Given the description of an element on the screen output the (x, y) to click on. 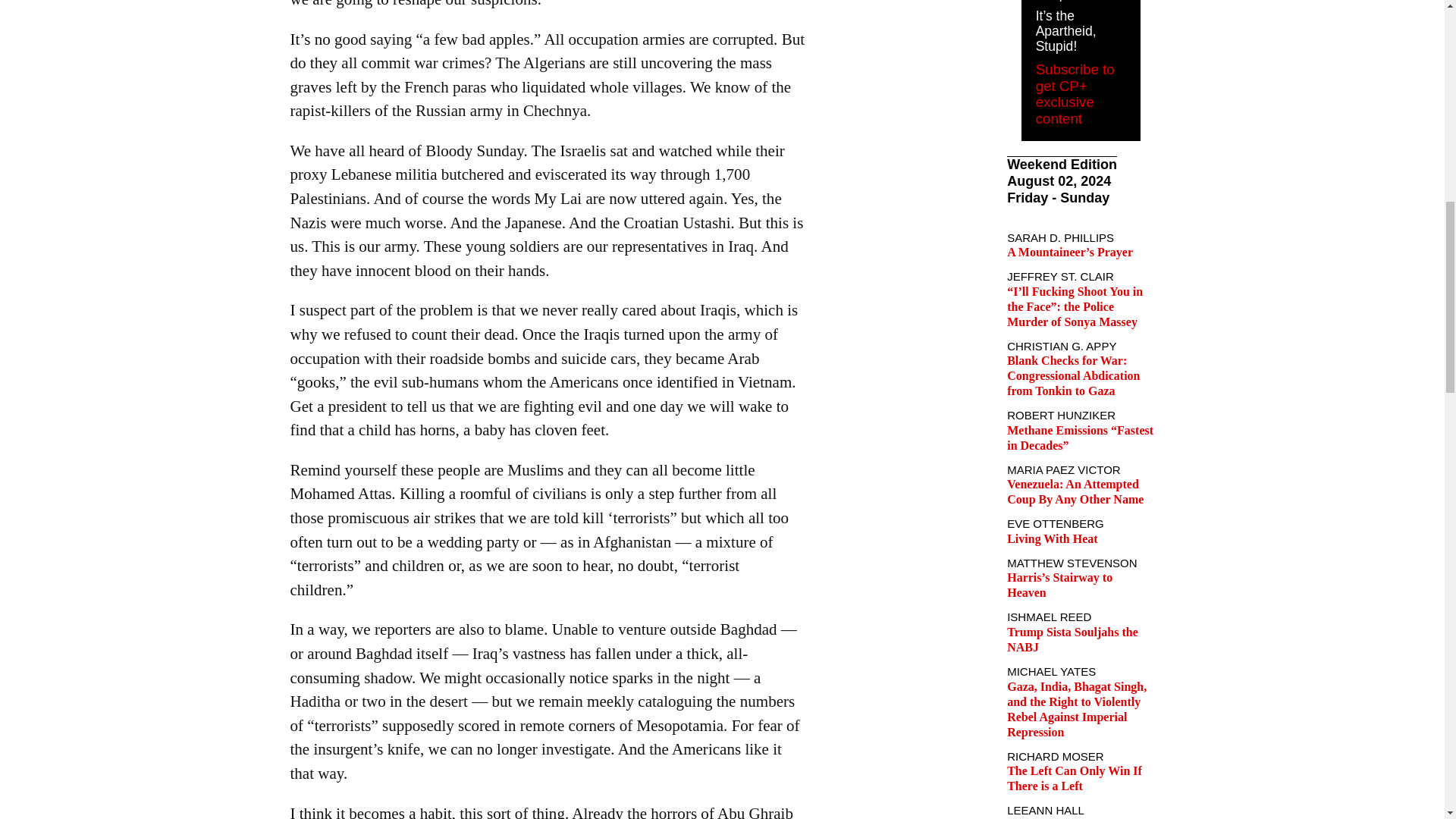
The US-Israeli Regime of Despair (1078, 1)
